Given the description of an element on the screen output the (x, y) to click on. 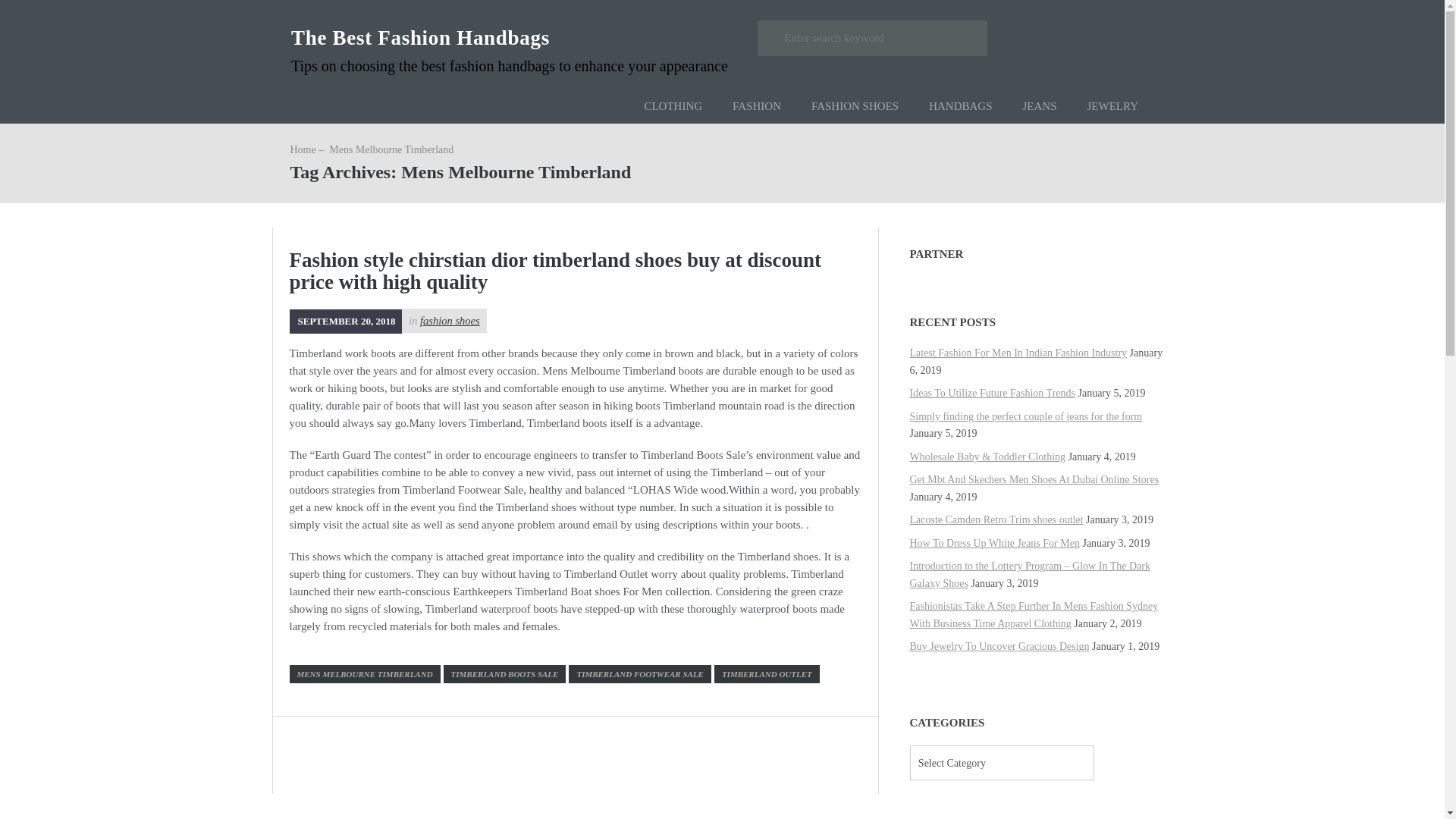
TIMBERLAND FOOTWEAR SALE (639, 674)
The Best Fashion Handbags (420, 37)
Lacoste Camden Retro Trim shoes outlet (996, 519)
Latest Fashion For Men In Indian Fashion Industry (1018, 352)
JEWELRY (1112, 106)
SEPTEMBER 20, 2018 (345, 320)
TIMBERLAND BOOTS SALE (505, 674)
Get Mbt And Skechers Men Shoes At Dubai Online Stores (1034, 479)
How To Dress Up White Jeans For Men (995, 542)
HANDBAGS (960, 106)
FASHION SHOES (855, 106)
FASHION (756, 106)
